Given the description of an element on the screen output the (x, y) to click on. 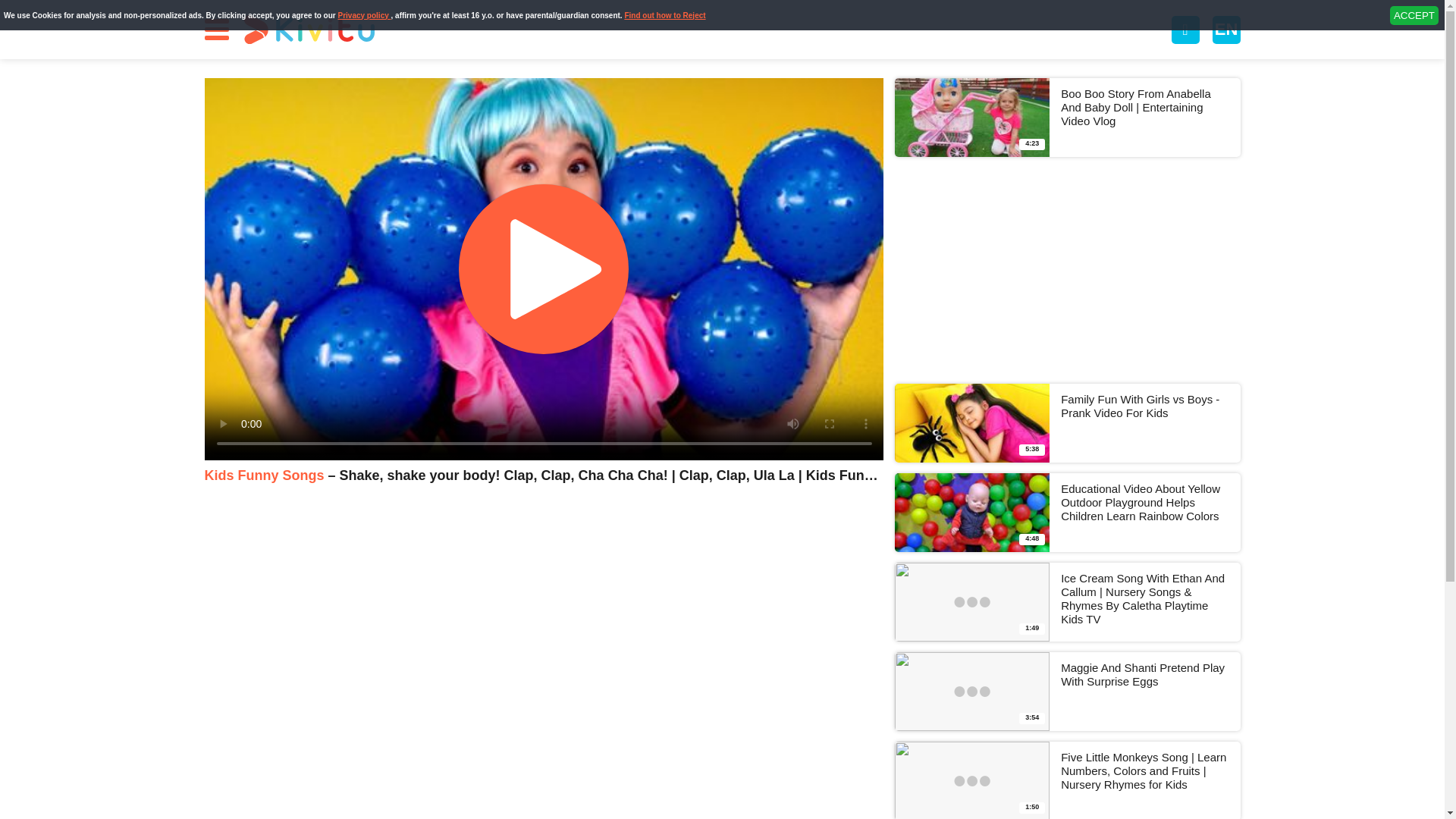
Find out how to Reject (664, 14)
ACCEPT (1067, 691)
EN (1067, 423)
Privacy policy (1414, 15)
